Given the description of an element on the screen output the (x, y) to click on. 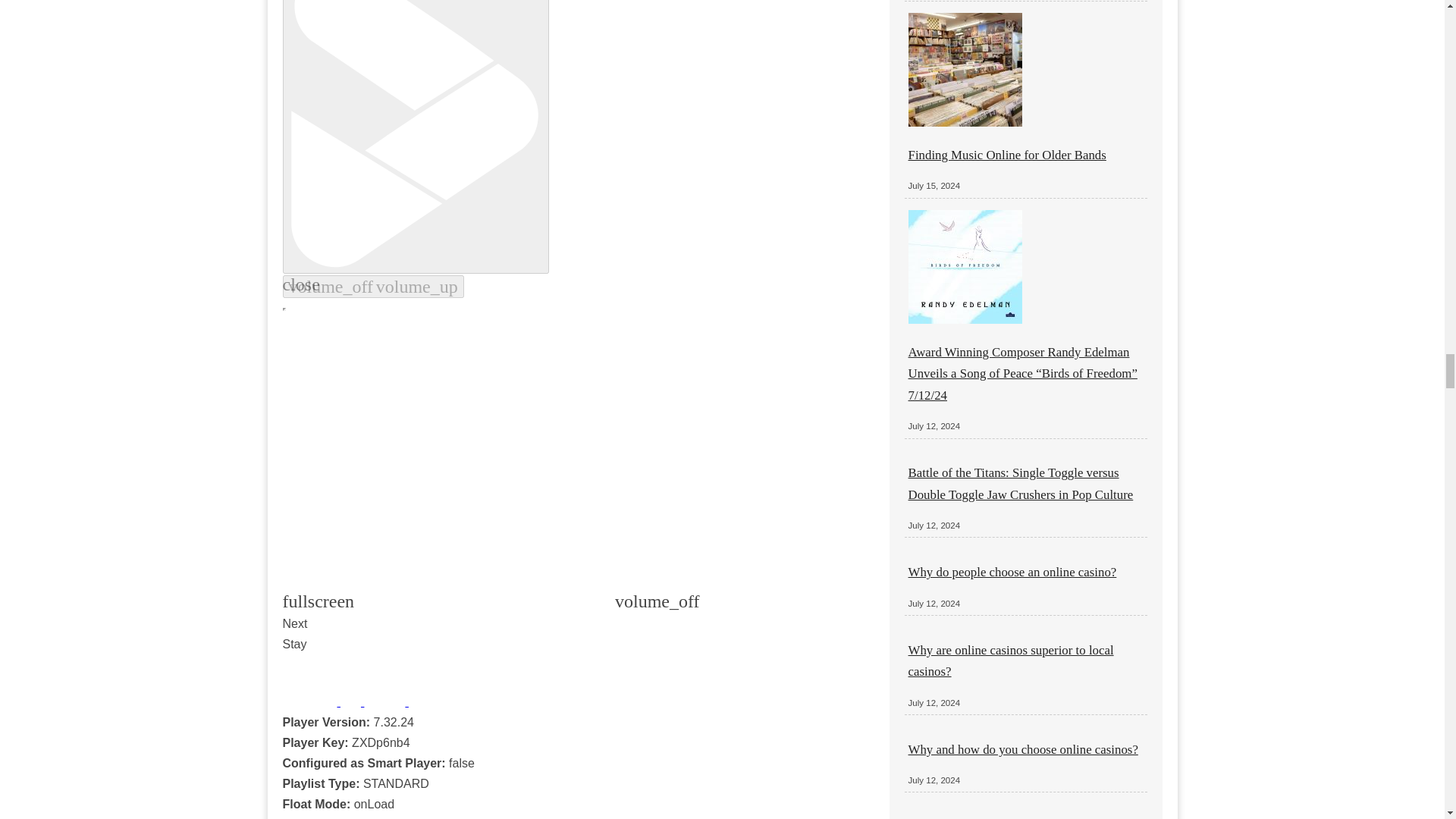
Finding Music Online for Older Bands (1007, 155)
Why do people choose an online casino? (1012, 572)
